Given the description of an element on the screen output the (x, y) to click on. 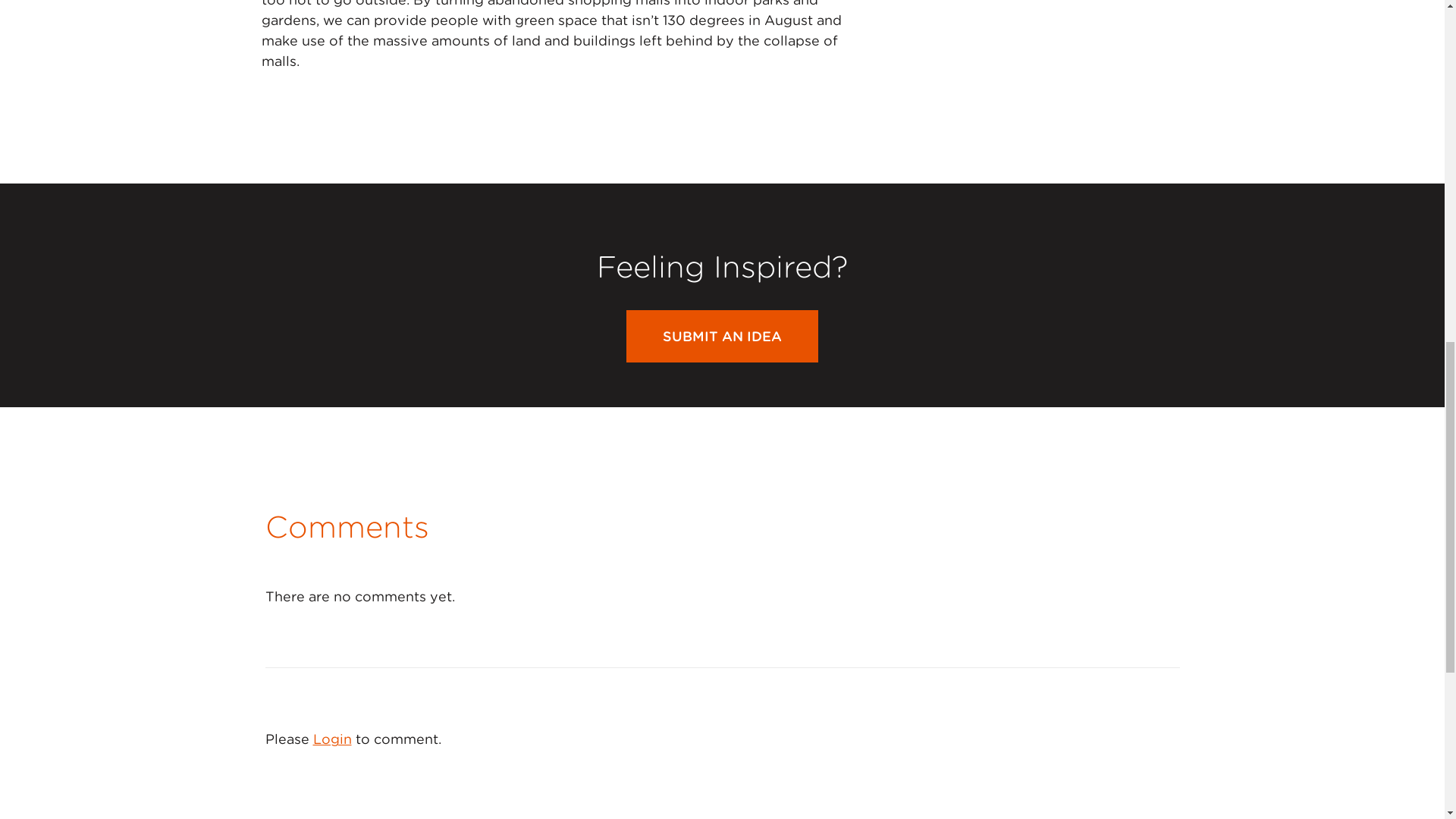
SUBMIT AN IDEA (722, 336)
Login (331, 738)
